Given the description of an element on the screen output the (x, y) to click on. 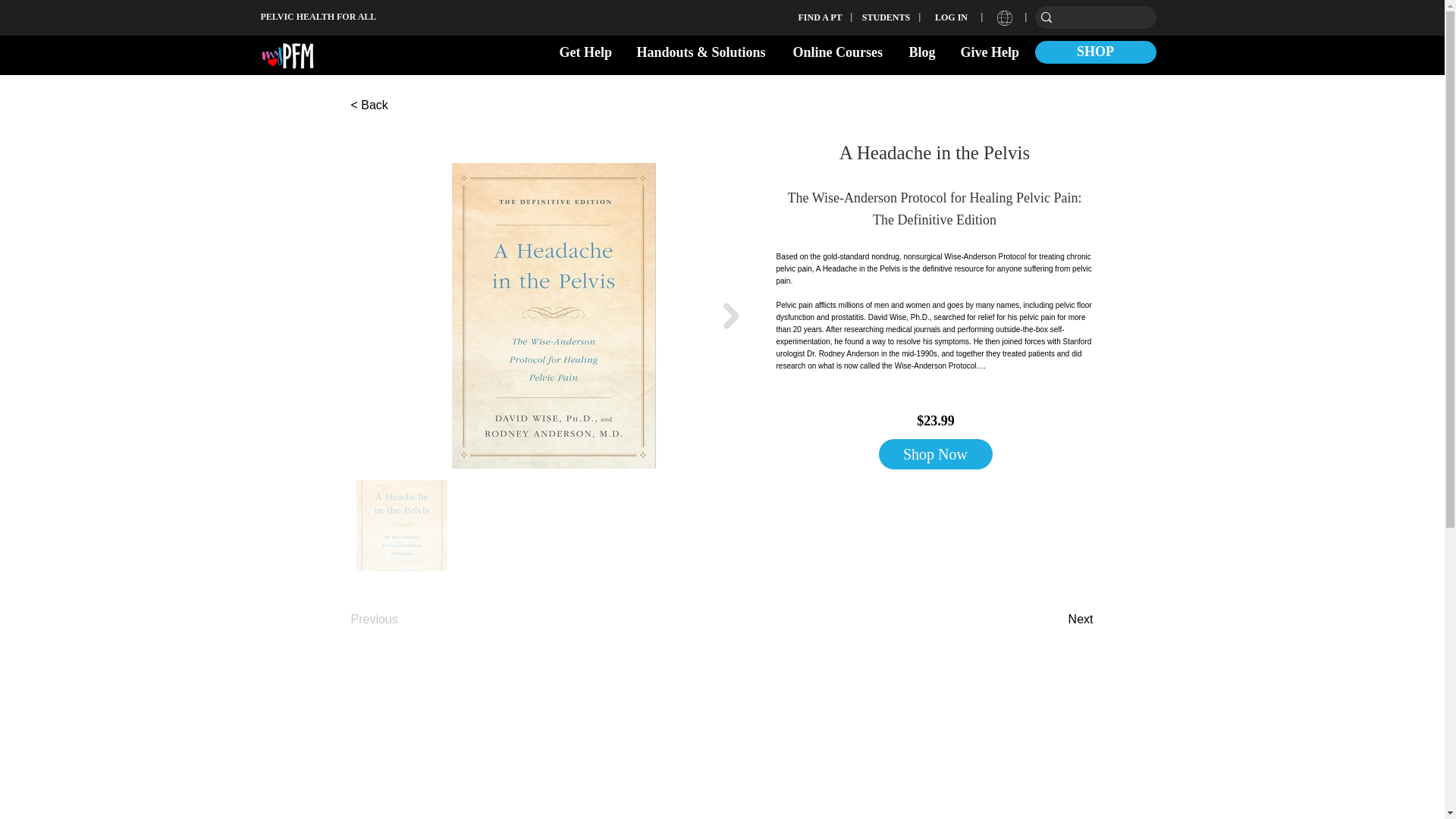
STUDENTS (885, 16)
FIND A PT (820, 16)
Blog (923, 52)
Online Courses (838, 52)
Get Help (585, 52)
SHOP (1094, 51)
Give Help (990, 52)
LOG IN (952, 16)
